Given the description of an element on the screen output the (x, y) to click on. 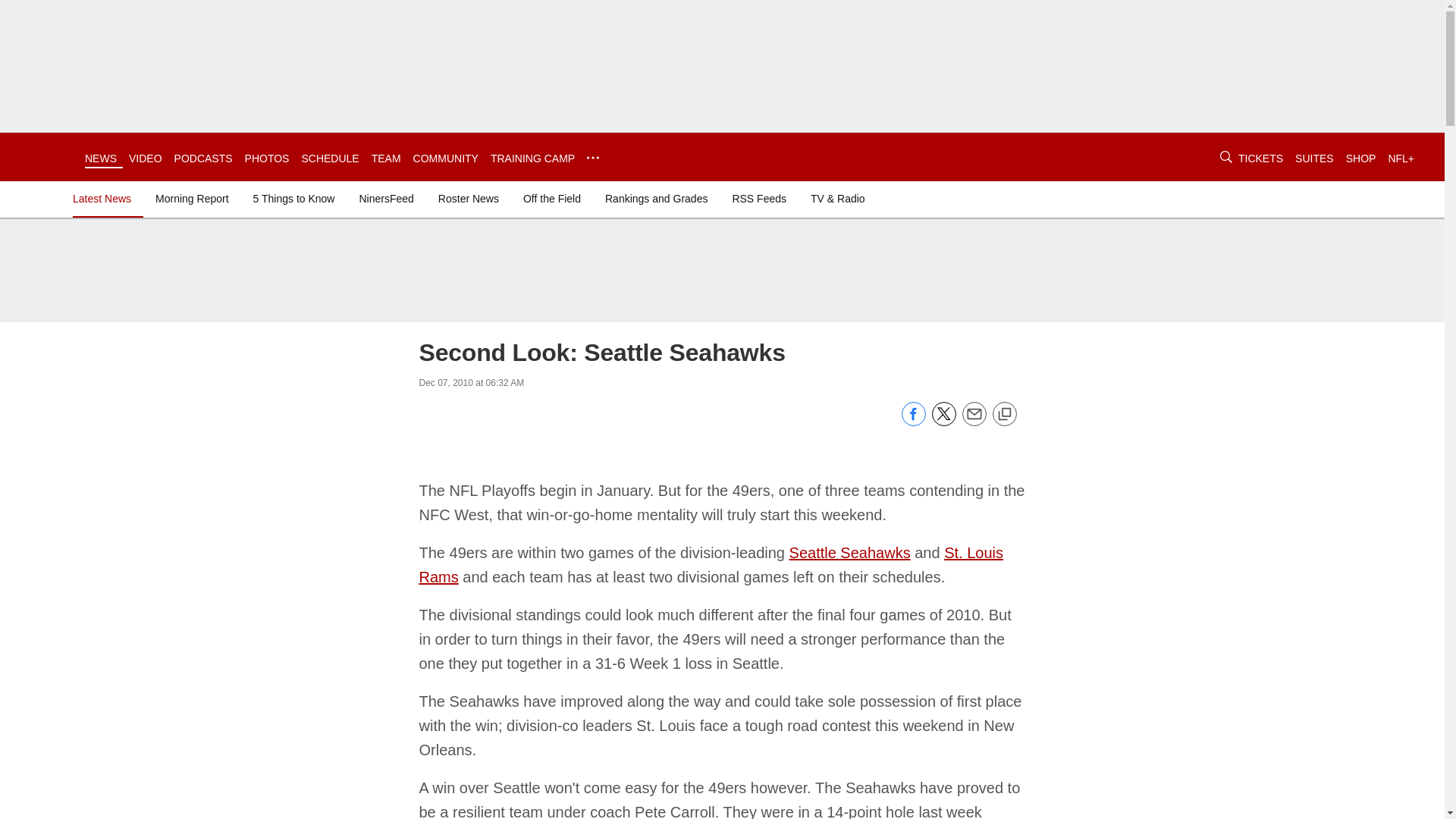
NEWS (100, 158)
PHOTOS (266, 158)
SCHEDULE (329, 158)
RSS Feeds (758, 198)
SCHEDULE (329, 158)
Link to club's homepage (42, 156)
VIDEO (145, 158)
Roster News (468, 198)
PODCASTS (203, 158)
COMMUNITY (446, 158)
